Given the description of an element on the screen output the (x, y) to click on. 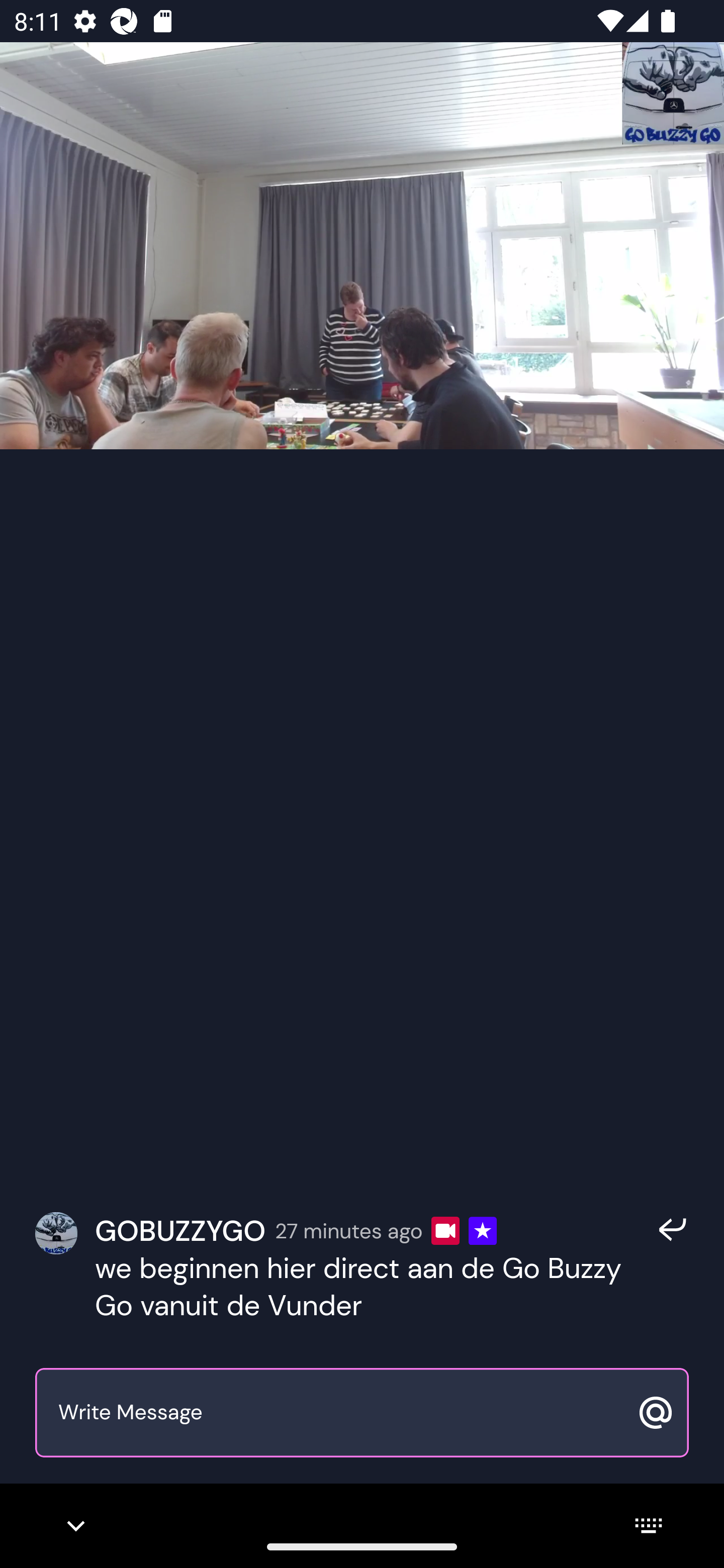
GOBUZZYGO (179, 1230)
Write Message (340, 1413)
